Given the description of an element on the screen output the (x, y) to click on. 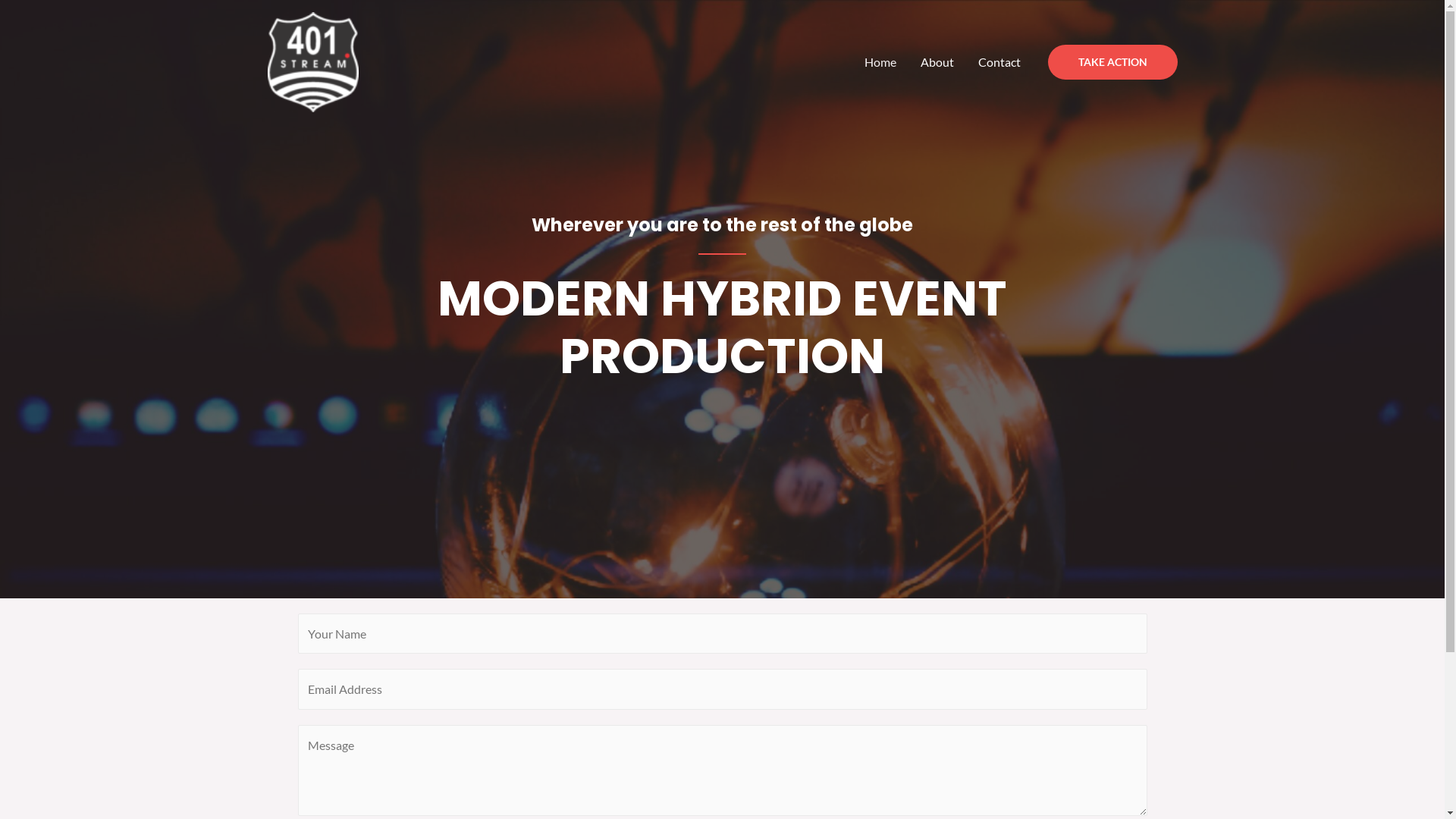
About Element type: text (937, 61)
Contact Element type: text (999, 61)
TAKE ACTION Element type: text (1112, 61)
Home Element type: text (880, 61)
